Given the description of an element on the screen output the (x, y) to click on. 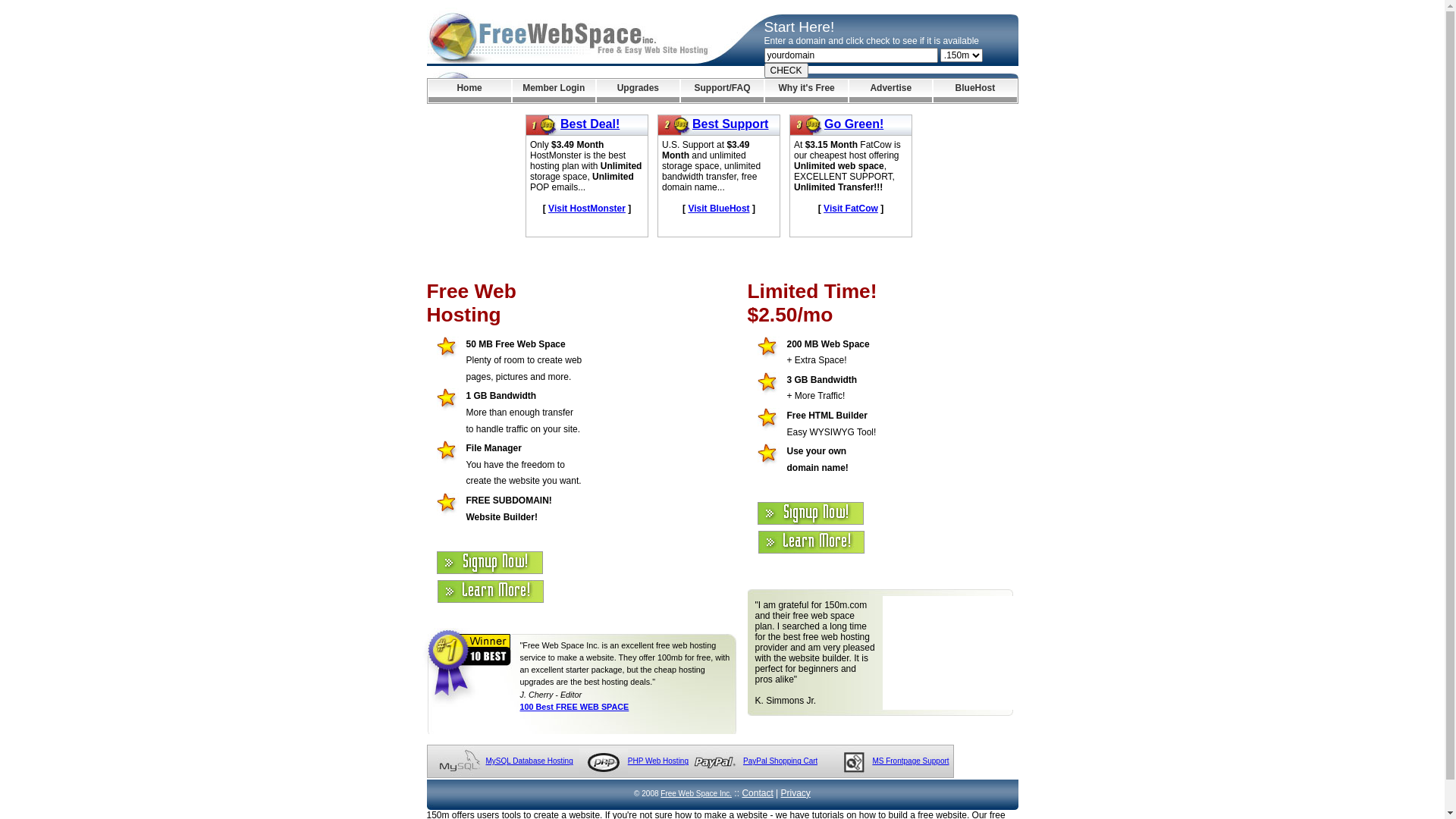
Home Element type: text (468, 90)
Advertise Element type: text (890, 90)
Privacy Element type: text (795, 792)
PayPal Shopping Cart Element type: text (780, 760)
100 Best FREE WEB SPACE Element type: text (574, 706)
Support/FAQ Element type: text (721, 90)
PHP Web Hosting Element type: text (657, 760)
MS Frontpage Support Element type: text (910, 760)
Why it's Free Element type: text (806, 90)
Upgrades Element type: text (637, 90)
Contact Element type: text (756, 792)
CHECK Element type: text (786, 70)
BlueHost Element type: text (974, 90)
Member Login Element type: text (553, 90)
Free Web Space Inc. Element type: text (695, 793)
MySQL Database Hosting Element type: text (528, 760)
